Given the description of an element on the screen output the (x, y) to click on. 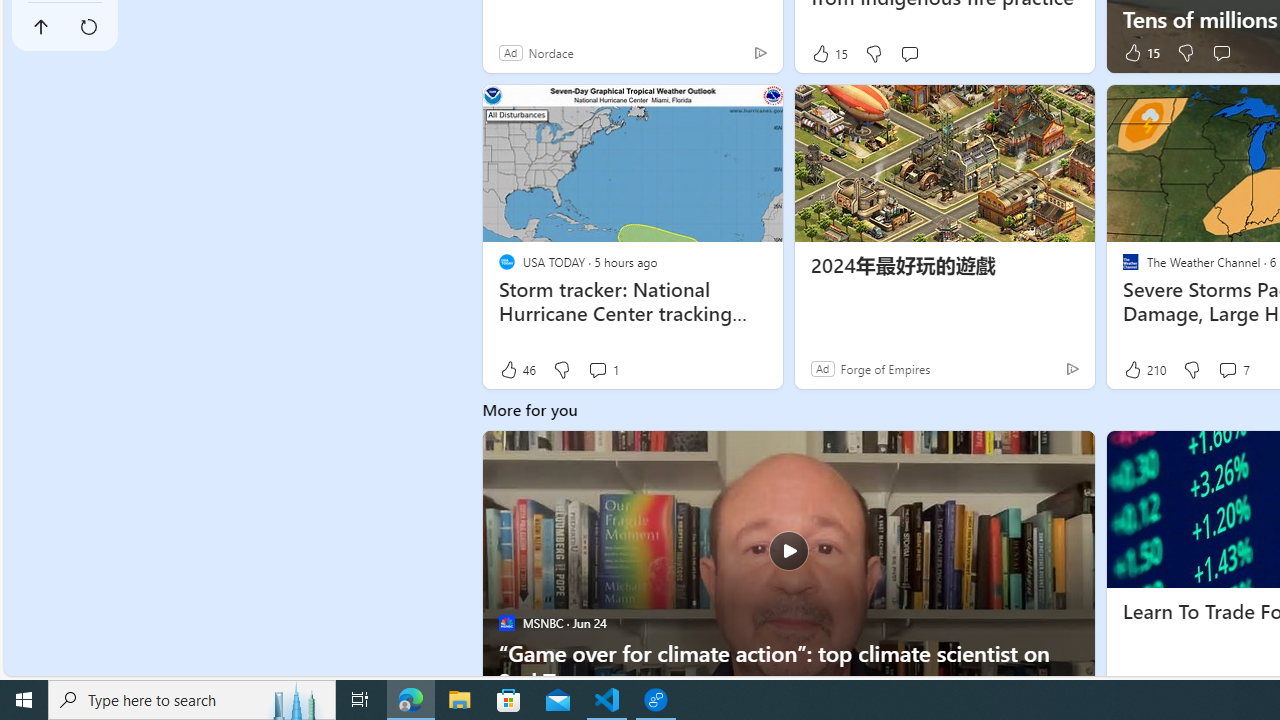
MSNBC (505, 622)
210 Like (1143, 369)
15 Like (1140, 52)
Back to top (41, 26)
USA TODAY (505, 262)
Forge of Empires (884, 368)
